Given the description of an element on the screen output the (x, y) to click on. 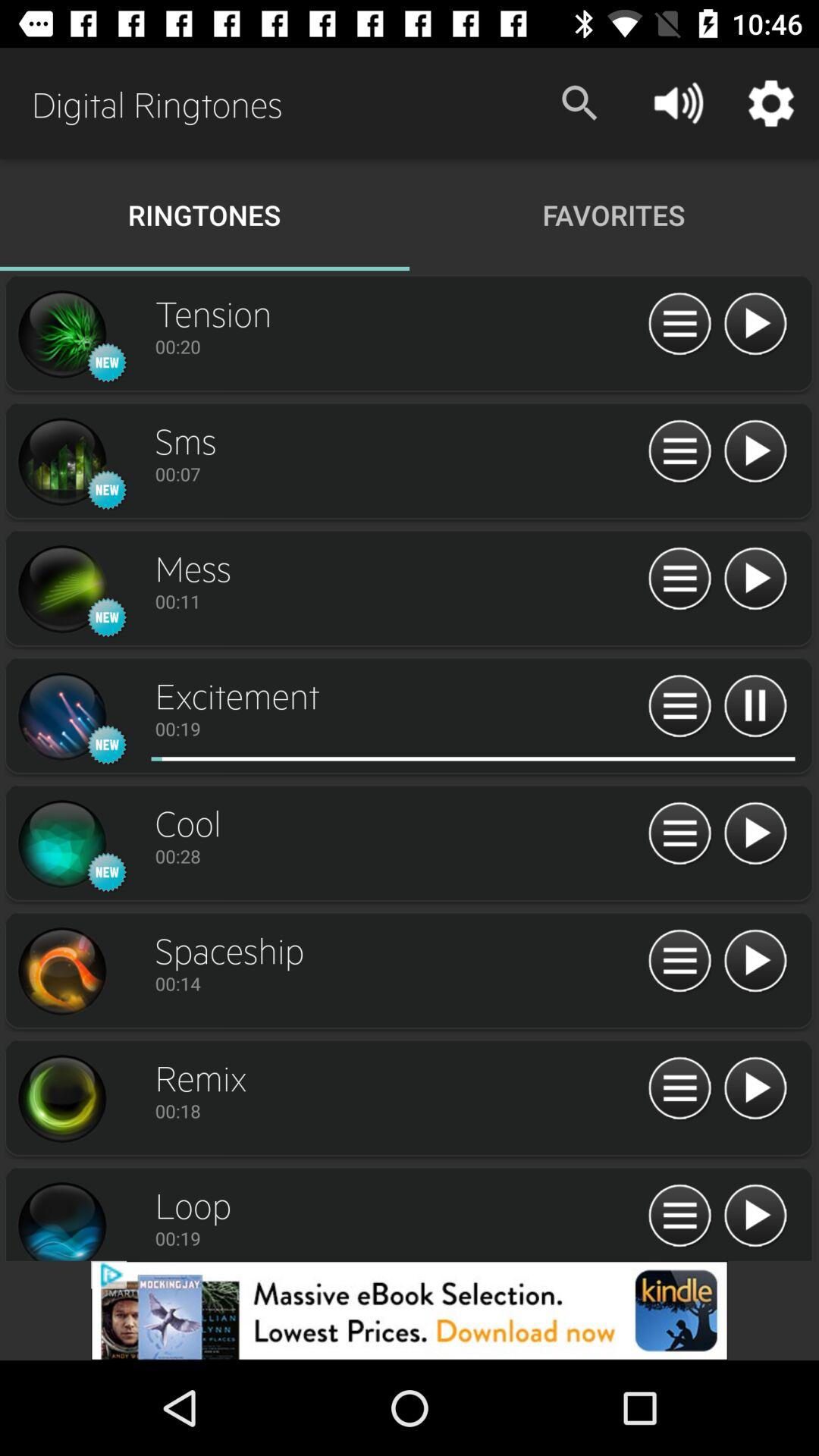
play button (755, 324)
